Given the description of an element on the screen output the (x, y) to click on. 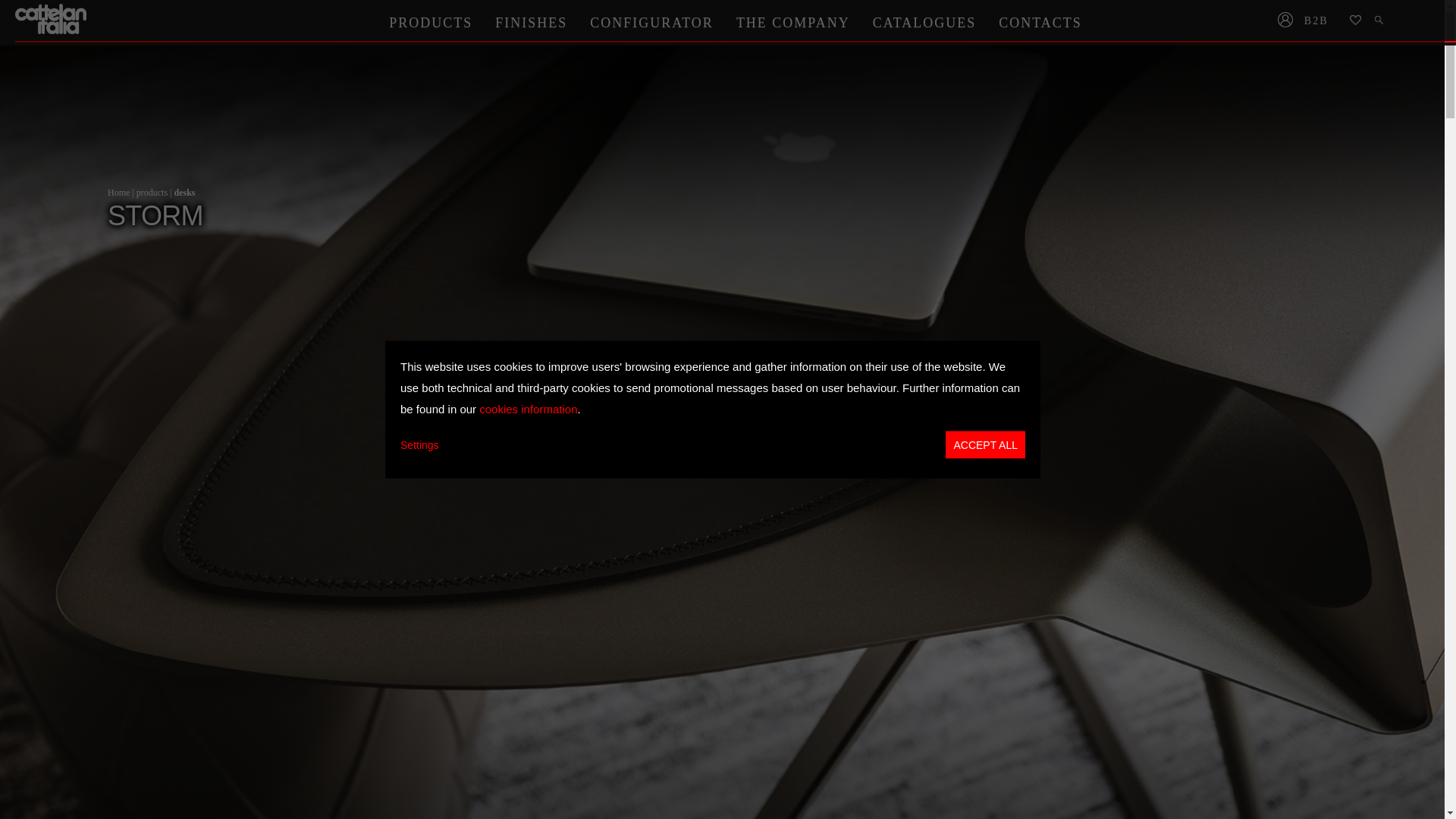
THE COMPANY (793, 22)
ACCEPT ALL (984, 443)
DESKS (184, 192)
Settings (419, 444)
Search... (1381, 20)
FINISHES (530, 22)
CONFIGURATOR (651, 22)
products (151, 192)
CATALOGUES (924, 22)
Login (1285, 21)
Cookies information (527, 408)
Cattelan Italia (52, 19)
B2B (1321, 20)
products (151, 192)
cookies information (527, 408)
